Given the description of an element on the screen output the (x, y) to click on. 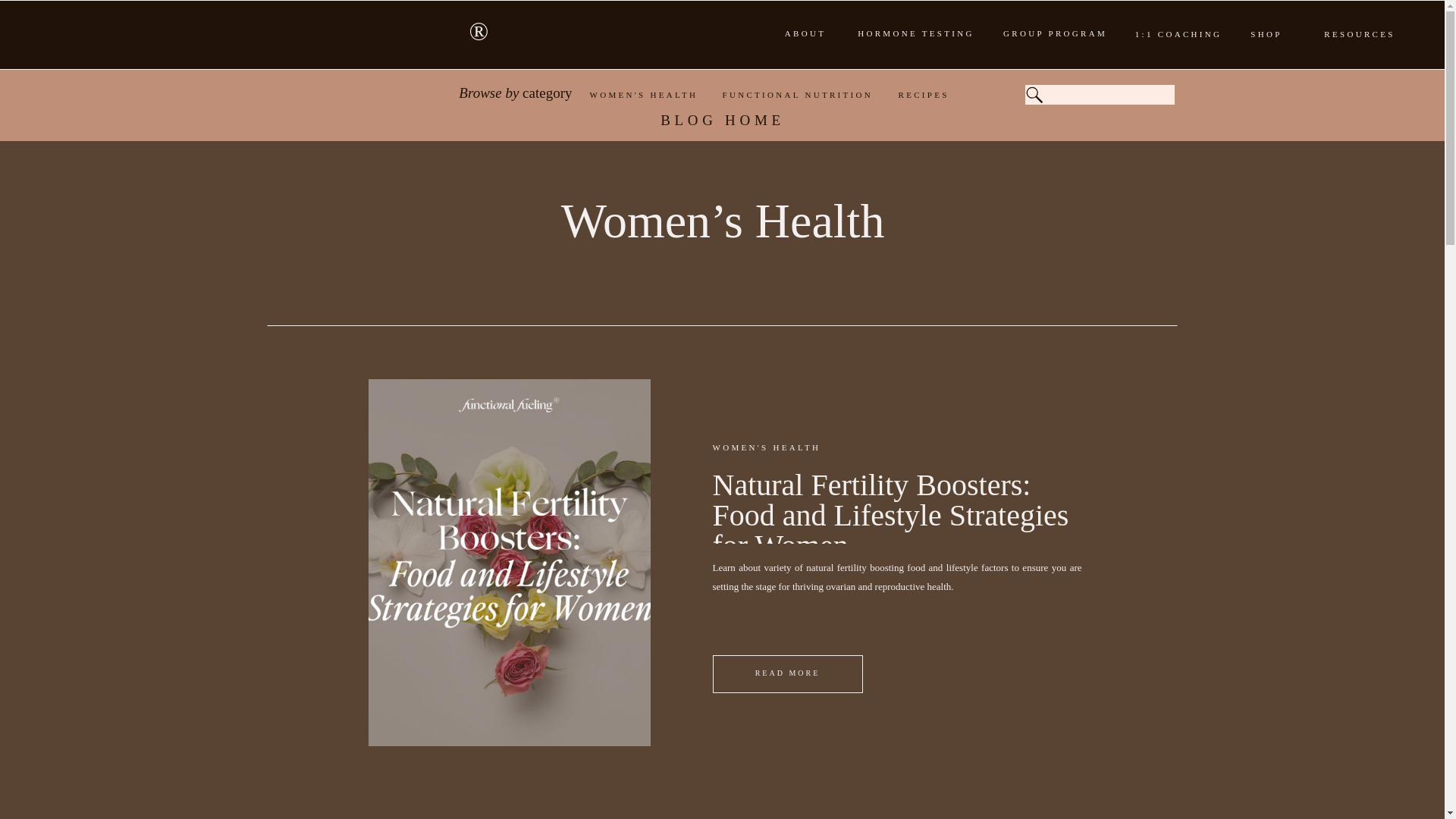
WOMEN'S HEALTH (657, 94)
GROUP PROGRAM (1055, 33)
BLOG HOME (722, 124)
SHOP (1266, 34)
ABOUT (805, 32)
HORMONE TESTING (915, 34)
FUNCTIONAL NUTRITION (801, 94)
READ MORE (788, 672)
